Given the description of an element on the screen output the (x, y) to click on. 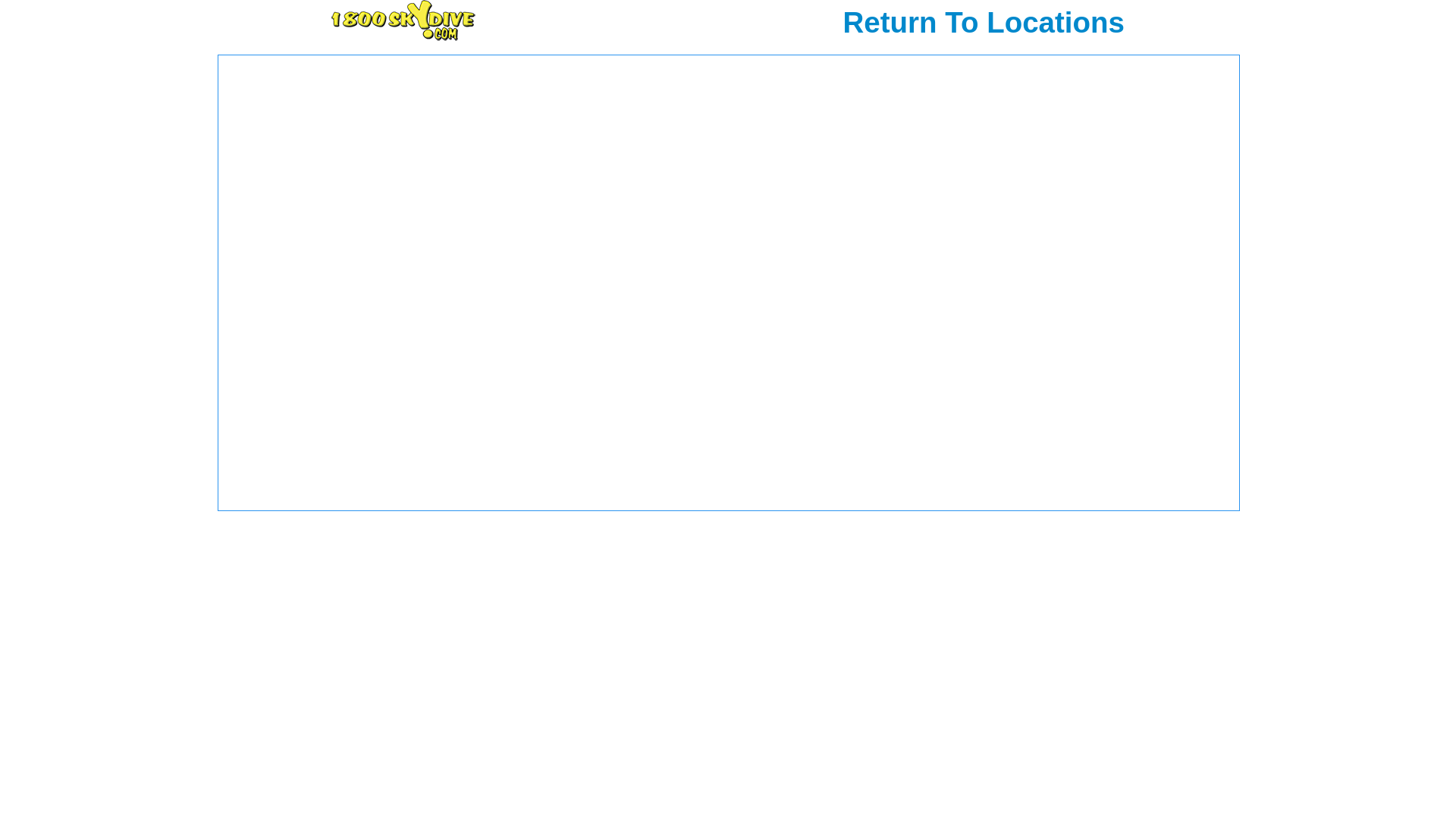
Return To Locations Element type: text (843, 22)
Click to Return to the Homepage Element type: hover (403, 20)
